Given the description of an element on the screen output the (x, y) to click on. 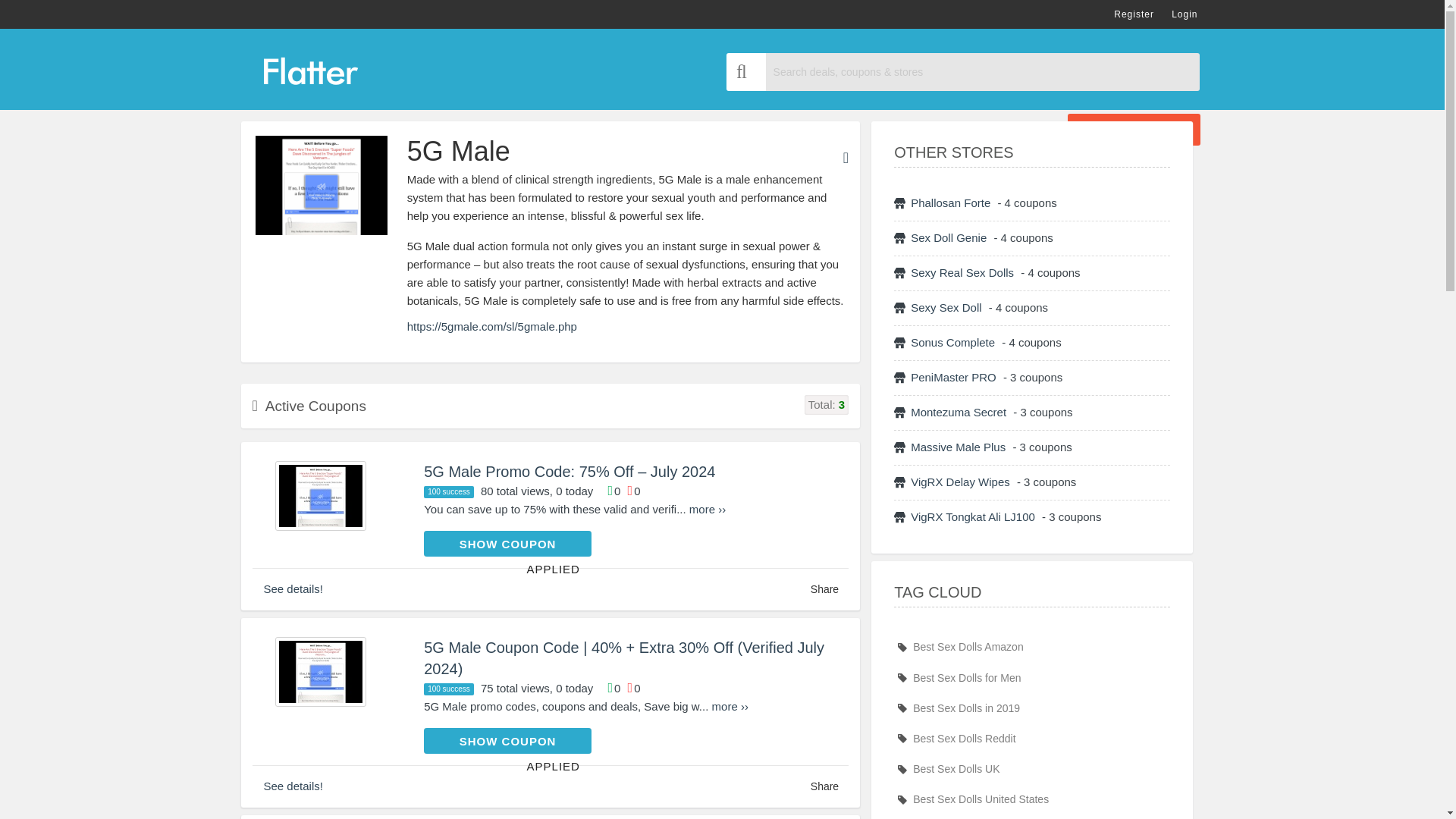
SHOW COUPON (507, 543)
See details! (293, 588)
Search (745, 71)
Login (1185, 14)
SHARE A COUPON (1133, 129)
Store RSS (845, 157)
Register (1134, 14)
SHOW COUPON (507, 740)
See details! (293, 785)
